Given the description of an element on the screen output the (x, y) to click on. 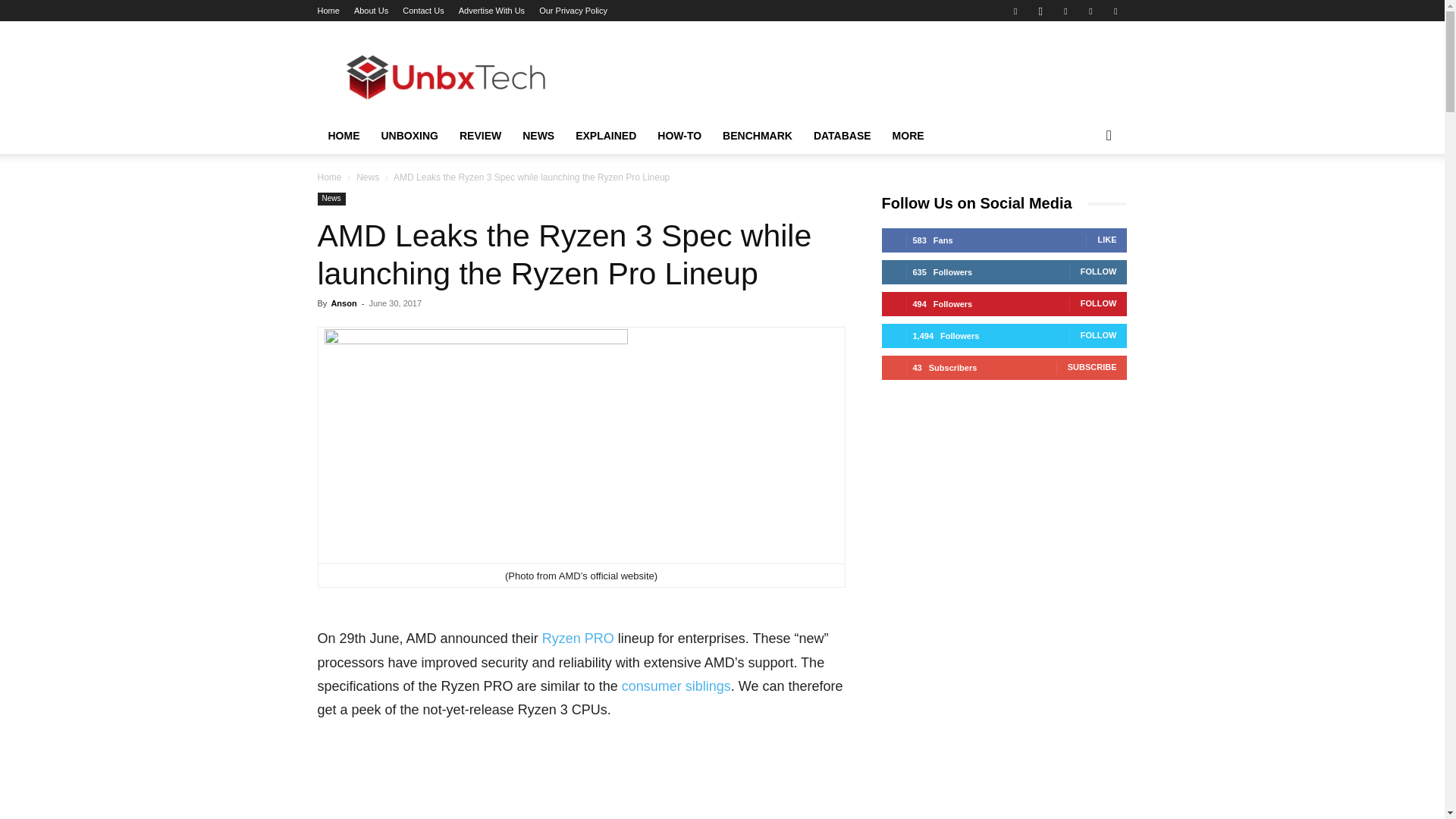
Facebook (1015, 10)
Pinterest (1065, 10)
Twitter (1090, 10)
Home (328, 10)
Advertise With Us (491, 10)
Youtube (1114, 10)
UnbxTech (445, 76)
About Us (370, 10)
Instagram (1040, 10)
Contact Us (423, 10)
